Given the description of an element on the screen output the (x, y) to click on. 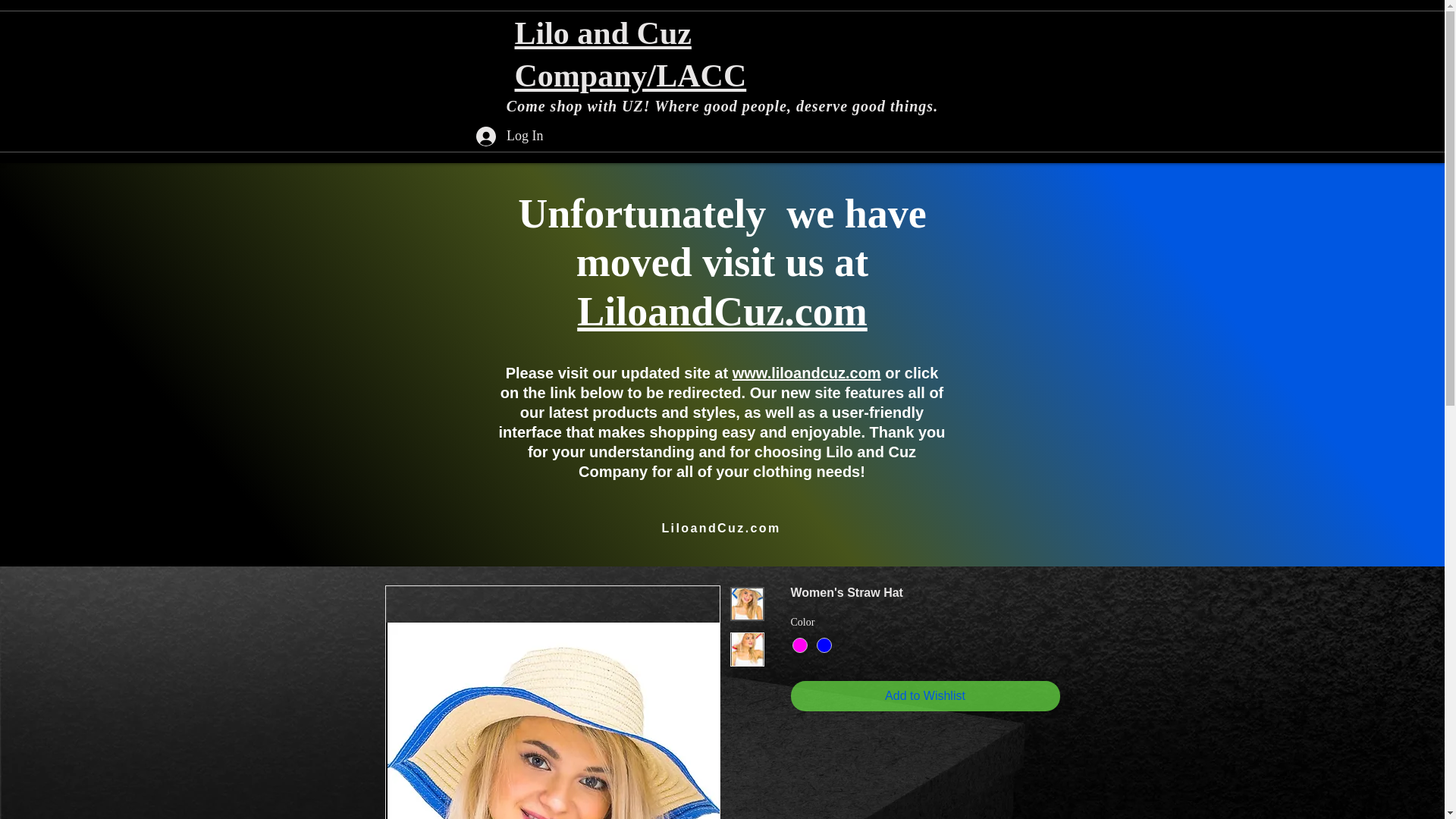
Add to Wishlist (924, 695)
LiloandCuz.com (721, 311)
Log In (509, 136)
www.liloandcuz.com (806, 372)
LiloandCuz.com (721, 528)
